Given the description of an element on the screen output the (x, y) to click on. 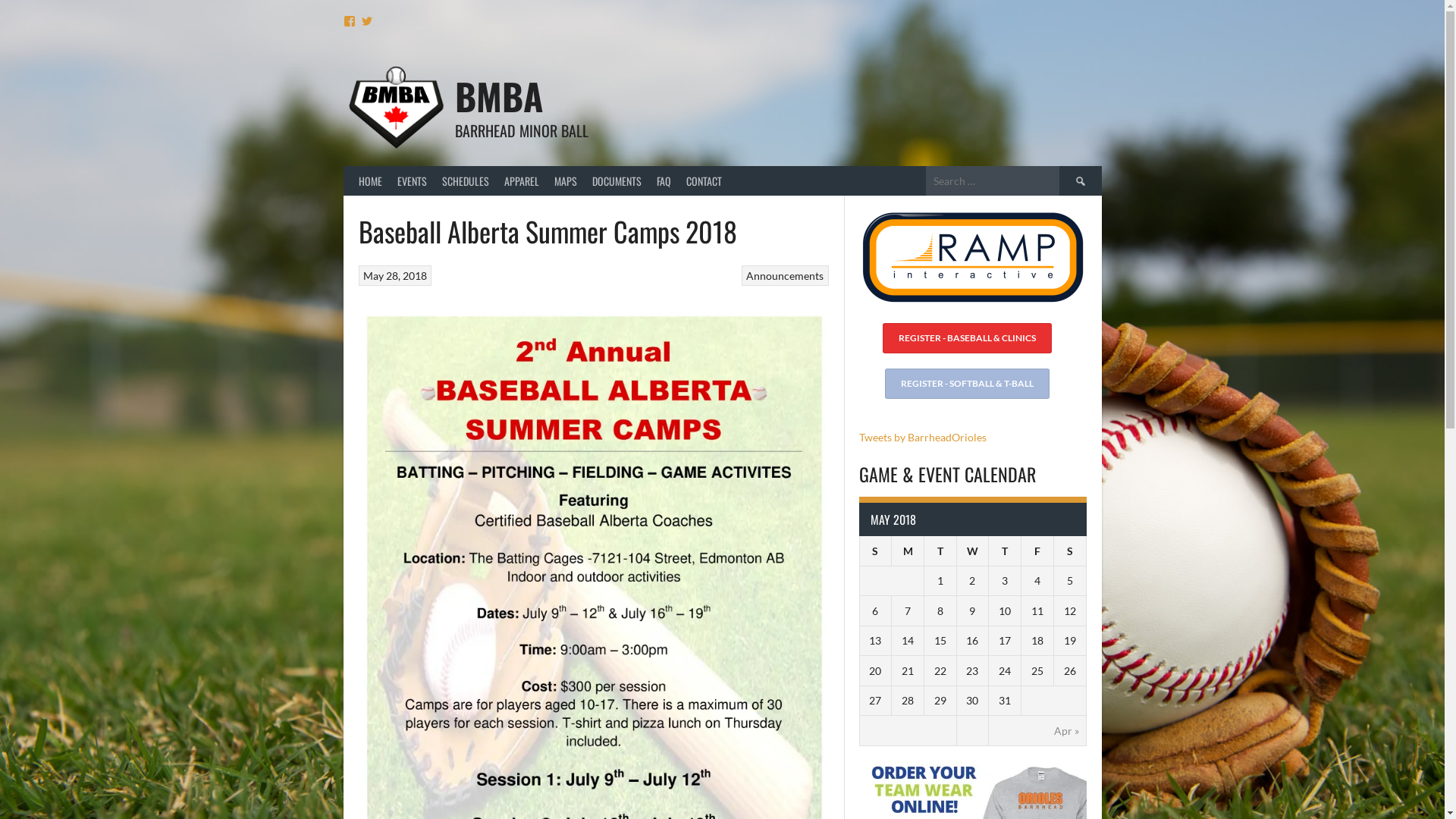
Announcements Element type: text (784, 275)
HOME Element type: text (369, 180)
Facebook Element type: text (348, 21)
Search Element type: hover (1079, 180)
DOCUMENTS Element type: text (615, 180)
CONTACT Element type: text (702, 180)
REGISTER - SOFTBALL & T-BALL Element type: text (966, 383)
MAPS Element type: text (564, 180)
REGISTER - BASEBALL & CLINICS Element type: text (966, 338)
SCHEDULES Element type: text (464, 180)
BMBA Element type: text (498, 95)
Tweets by BarrheadOrioles Element type: text (921, 436)
APPAREL Element type: text (520, 180)
May 28, 2018 Element type: text (394, 275)
FAQ Element type: text (663, 180)
EVENTS Element type: text (411, 180)
Twitter Element type: text (366, 21)
